Given the description of an element on the screen output the (x, y) to click on. 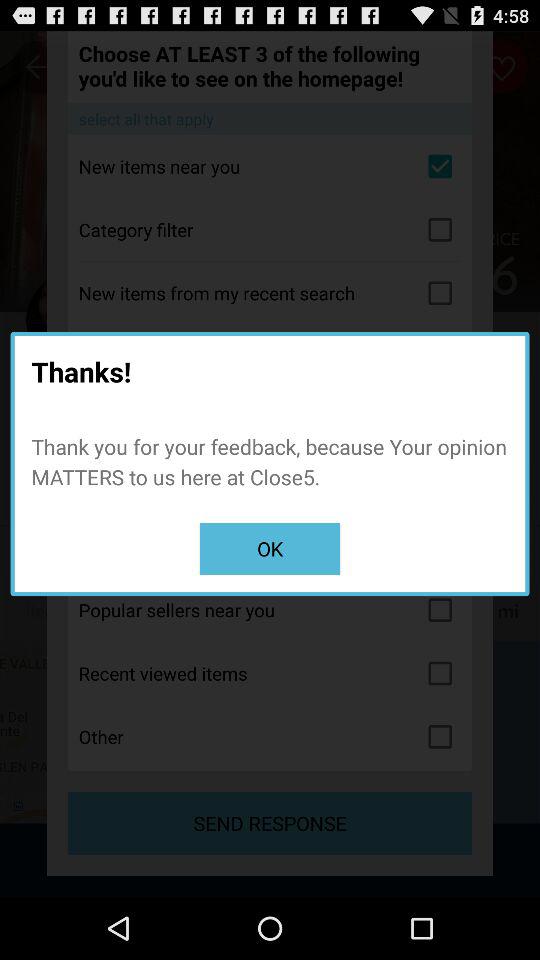
turn off the ok (269, 548)
